Given the description of an element on the screen output the (x, y) to click on. 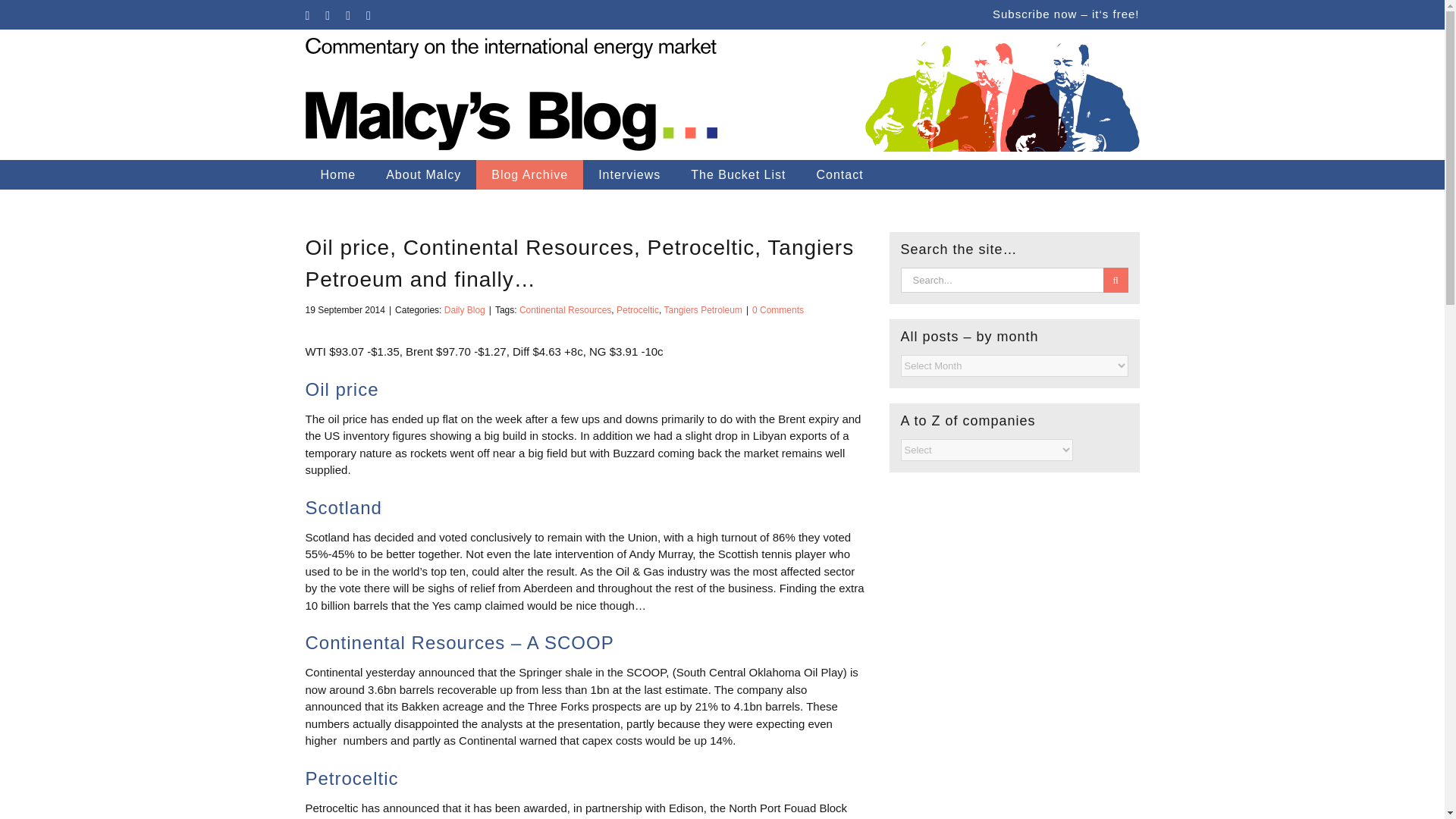
Continental Resources (565, 309)
Contact (838, 174)
Skype (348, 15)
The Bucket List (737, 174)
Interviews (629, 174)
0 Comments (777, 309)
X (307, 15)
Petroceltic (637, 309)
Home (337, 174)
Daily Blog (464, 309)
Rss (368, 15)
Blog Archive (529, 174)
LinkedIn (327, 15)
X (307, 15)
LinkedIn (327, 15)
